Given the description of an element on the screen output the (x, y) to click on. 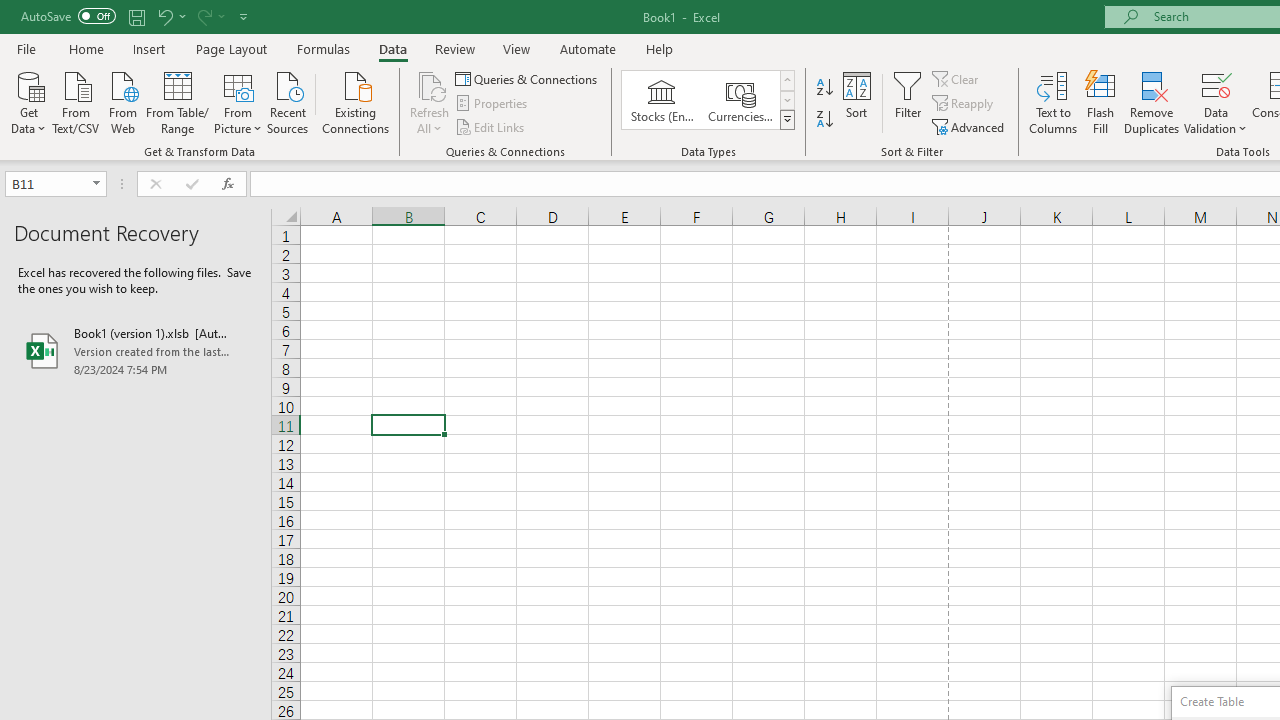
Sort... (856, 102)
Flash Fill (1101, 102)
Customize Quick Access Toolbar (244, 15)
File Tab (26, 48)
AutomationID: ConvertToLinkedEntity (708, 99)
From Table/Range (177, 101)
Queries & Connections (527, 78)
Advanced... (970, 126)
Sort Z to A (824, 119)
